Given the description of an element on the screen output the (x, y) to click on. 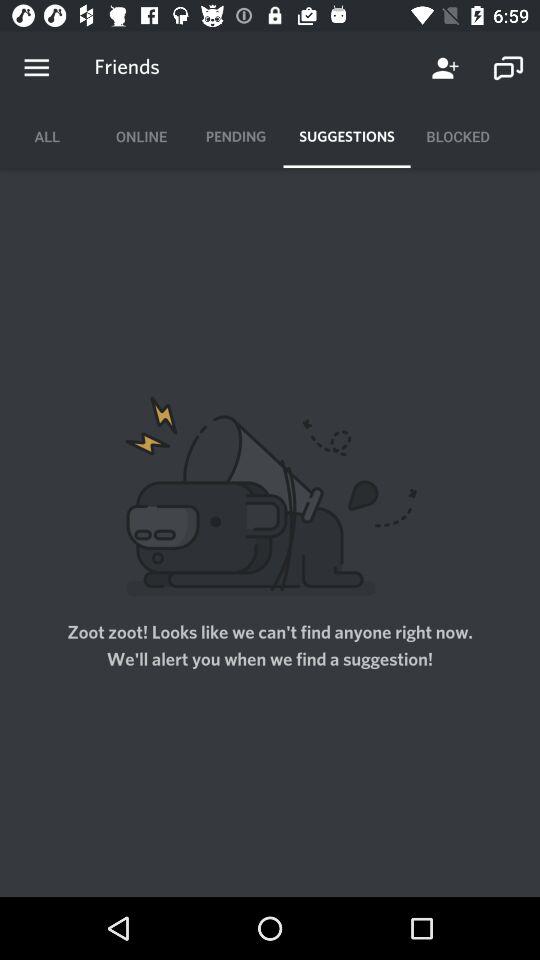
open the icon above all item (36, 68)
